Given the description of an element on the screen output the (x, y) to click on. 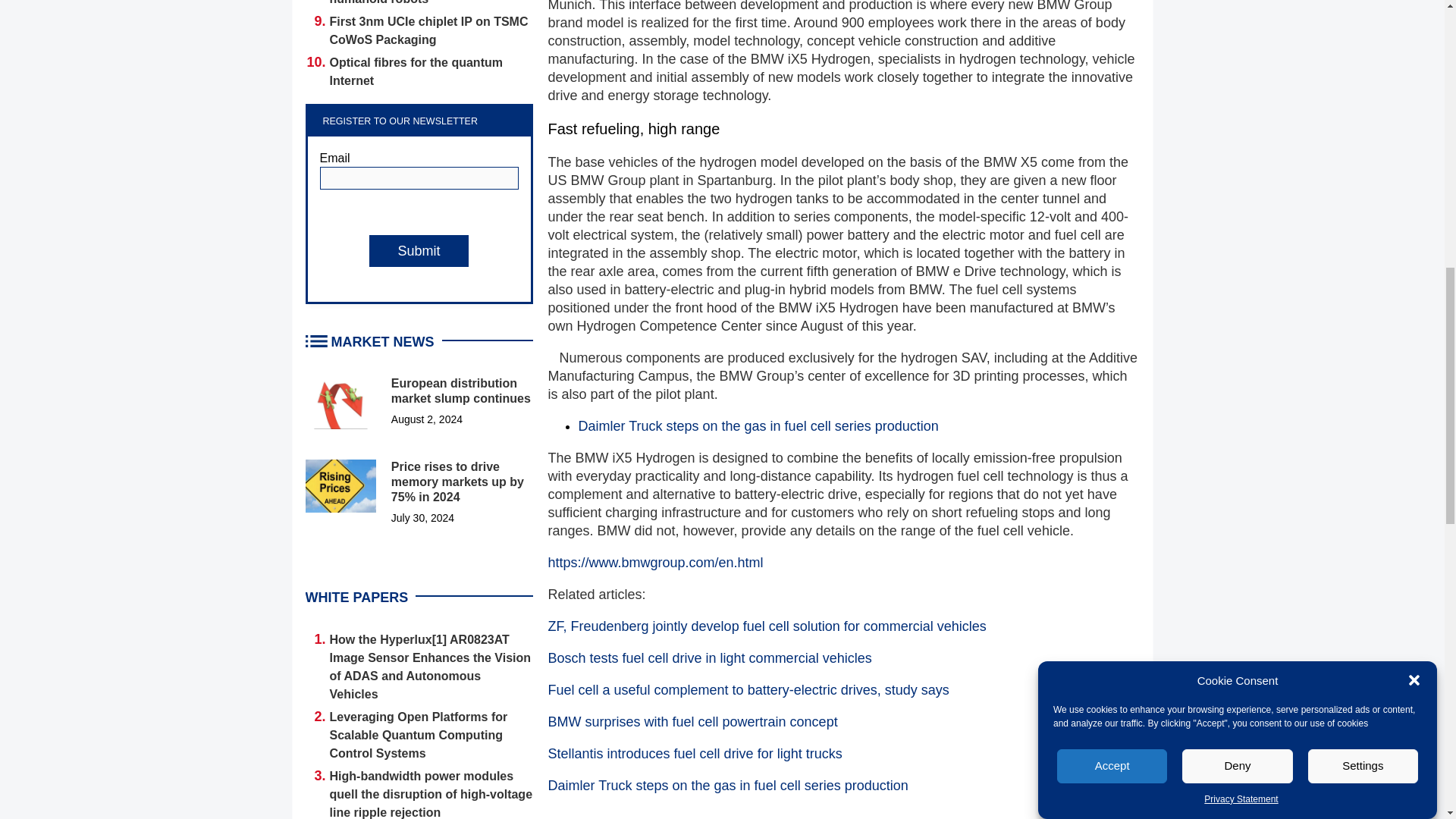
Privacy Statement (1241, 130)
Accept (1112, 265)
Deny (1237, 251)
Submit (418, 250)
Settings (1362, 220)
